Given the description of an element on the screen output the (x, y) to click on. 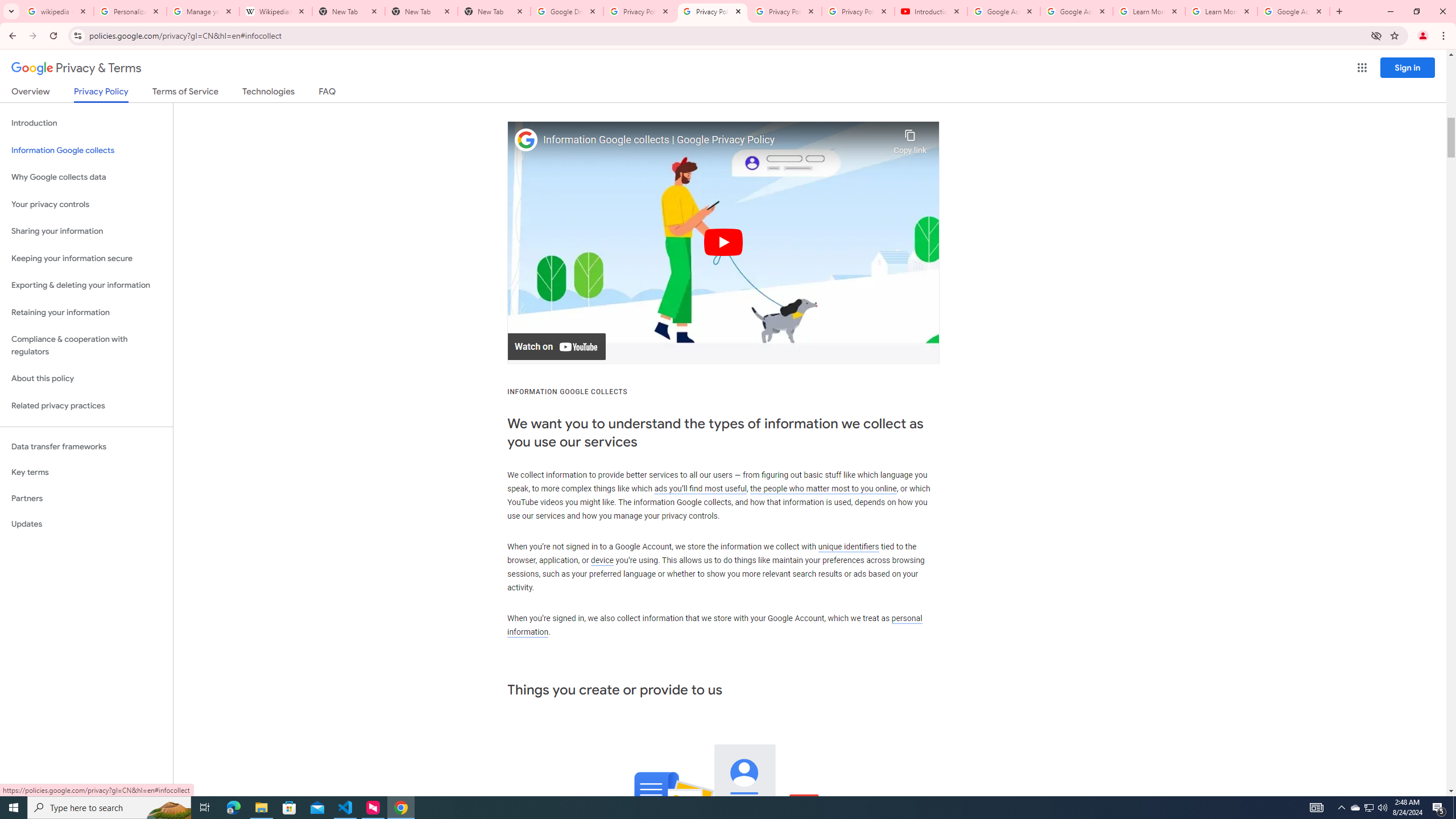
New Tab (493, 11)
Sharing your information (86, 230)
Google Account (1293, 11)
Google Drive: Sign-in (566, 11)
Play (723, 242)
Watch on YouTube (556, 346)
Personalization & Google Search results - Google Search Help (129, 11)
